Given the description of an element on the screen output the (x, y) to click on. 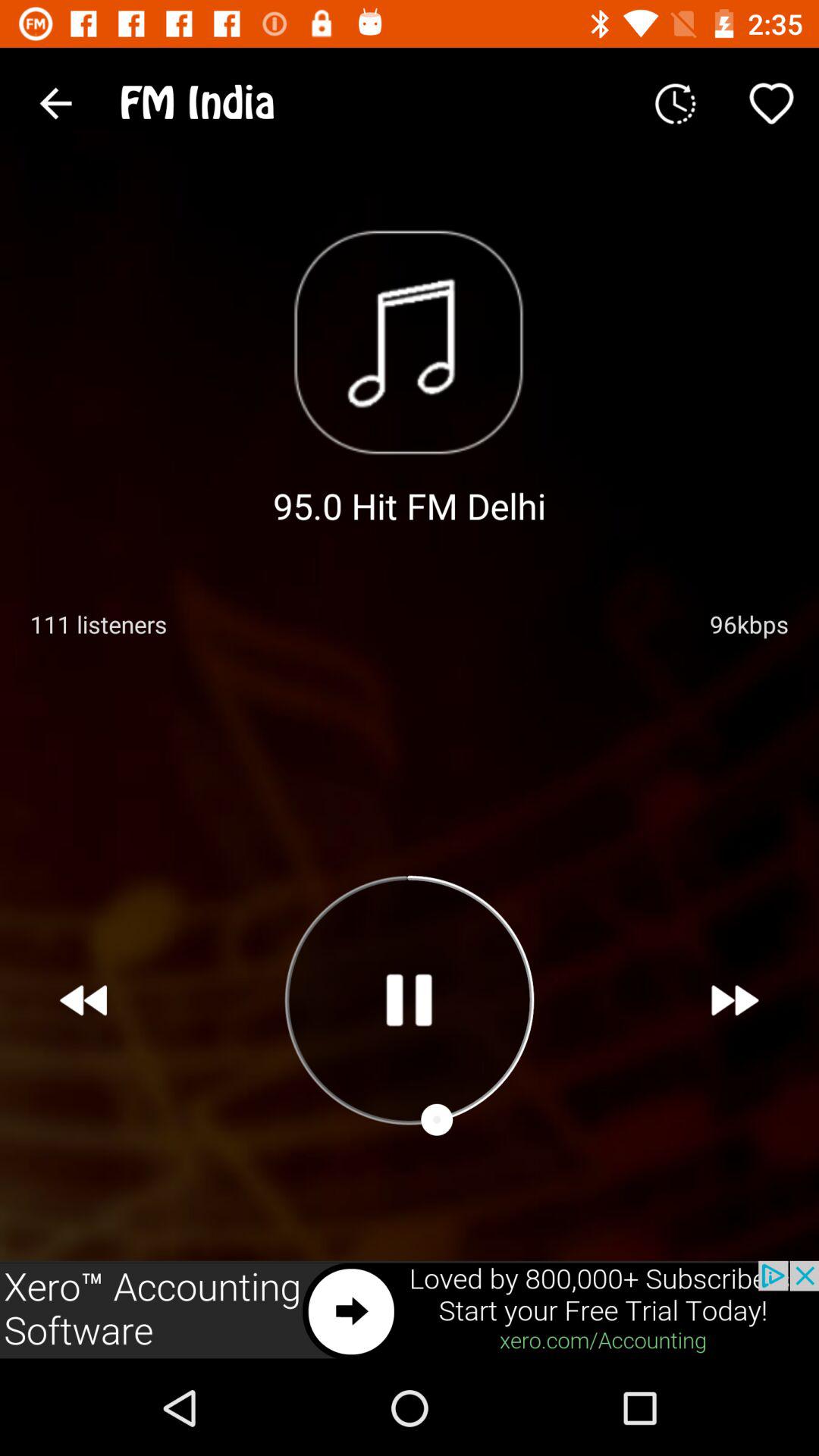
play (409, 999)
